Given the description of an element on the screen output the (x, y) to click on. 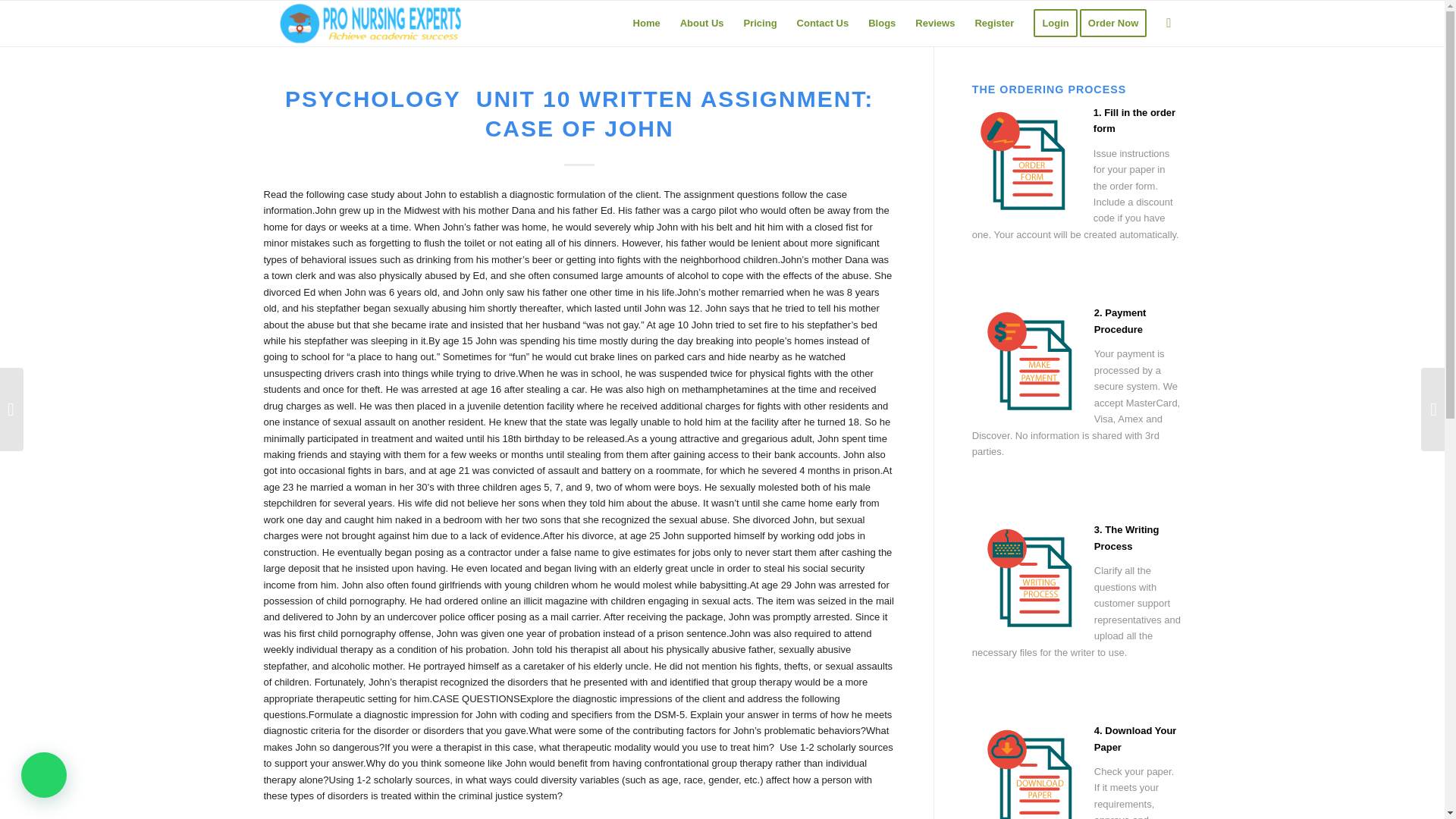
Login (1054, 22)
Order Now (1118, 22)
Register (993, 22)
Home (646, 22)
About Us (701, 22)
Reviews (934, 22)
Blogs (882, 22)
Contact Us (823, 22)
PSYCHOLOGY  UNIT 10 WRITTEN ASSIGNMENT: CASE OF JOHN (579, 113)
